Given the description of an element on the screen output the (x, y) to click on. 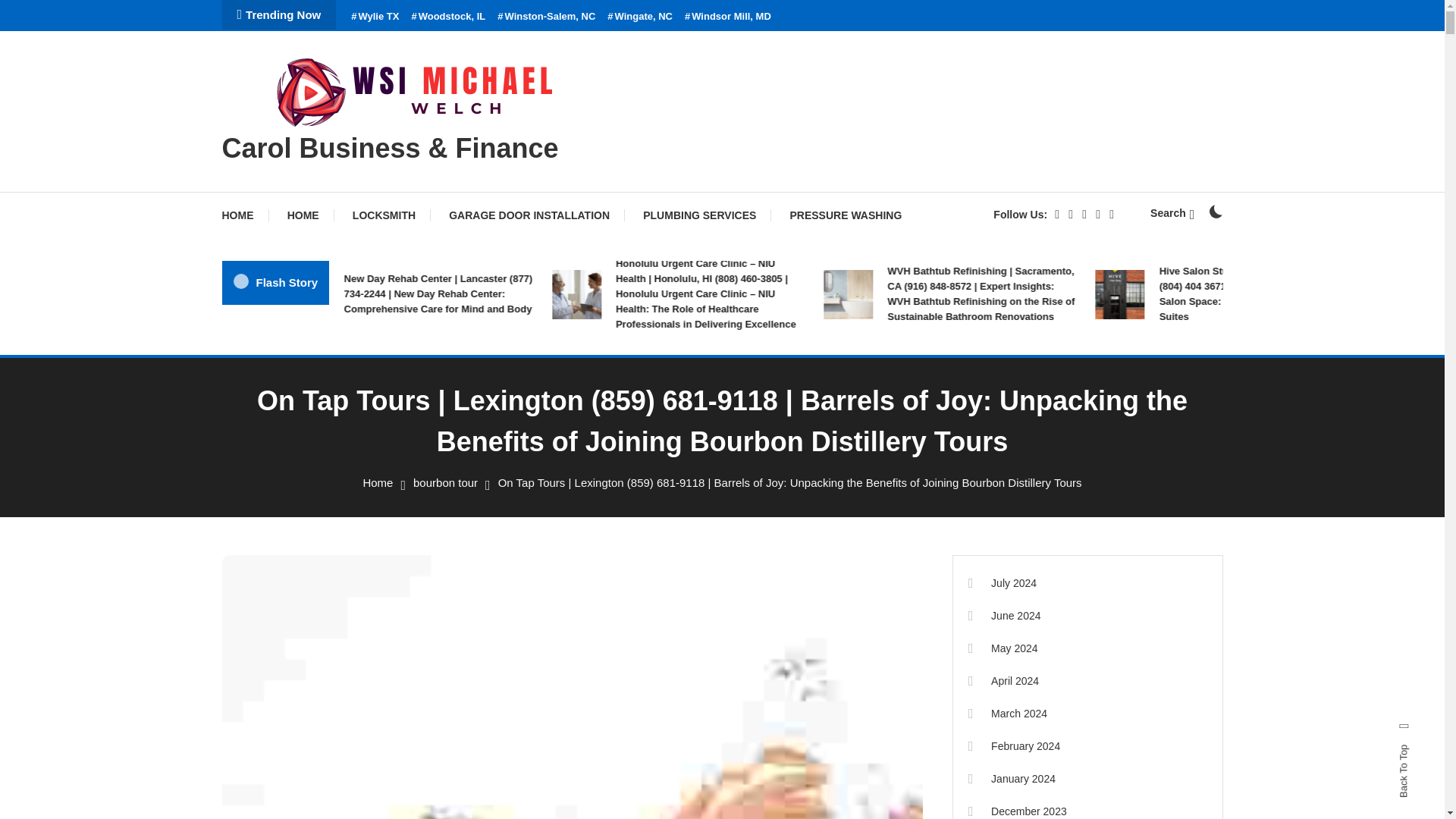
HOME (244, 215)
Search (1171, 213)
on (1215, 211)
PRESSURE WASHING (845, 215)
Search (768, 434)
GARAGE DOOR INSTALLATION (528, 215)
Woodstock, IL (447, 16)
PLUMBING SERVICES (699, 215)
Wingate, NC (639, 16)
HOME (303, 215)
LOCKSMITH (383, 215)
Wylie TX (374, 16)
Winston-Salem, NC (546, 16)
Windsor Mill, MD (727, 16)
